Given the description of an element on the screen output the (x, y) to click on. 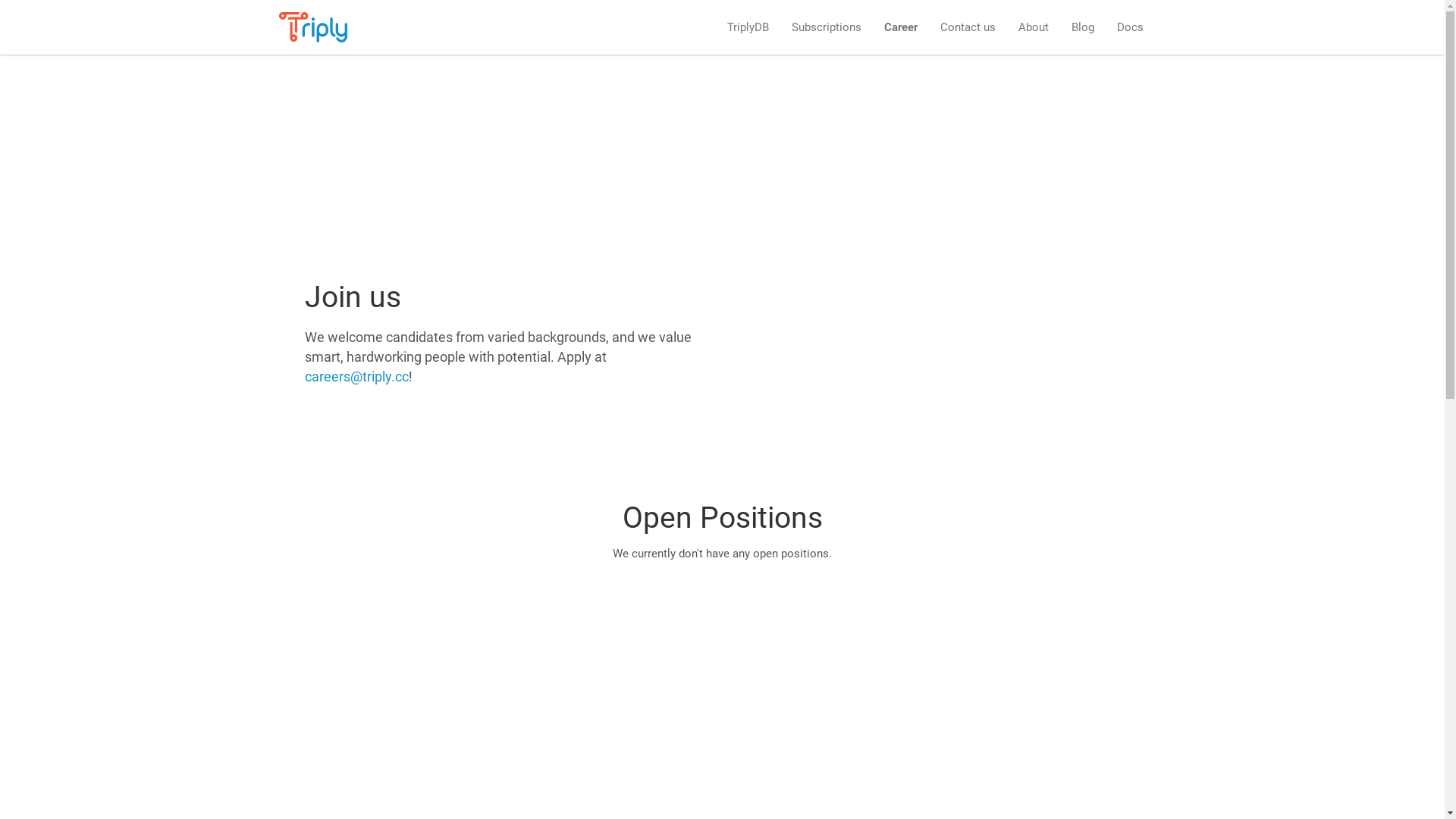
Blog Element type: text (1082, 27)
Docs Element type: text (1129, 27)
About Element type: text (1033, 27)
Career Element type: text (900, 27)
careers@triply.cc Element type: text (356, 376)
TriplyDB Element type: text (747, 27)
Subscriptions Element type: text (825, 27)
Contact us Element type: text (967, 27)
